Given the description of an element on the screen output the (x, y) to click on. 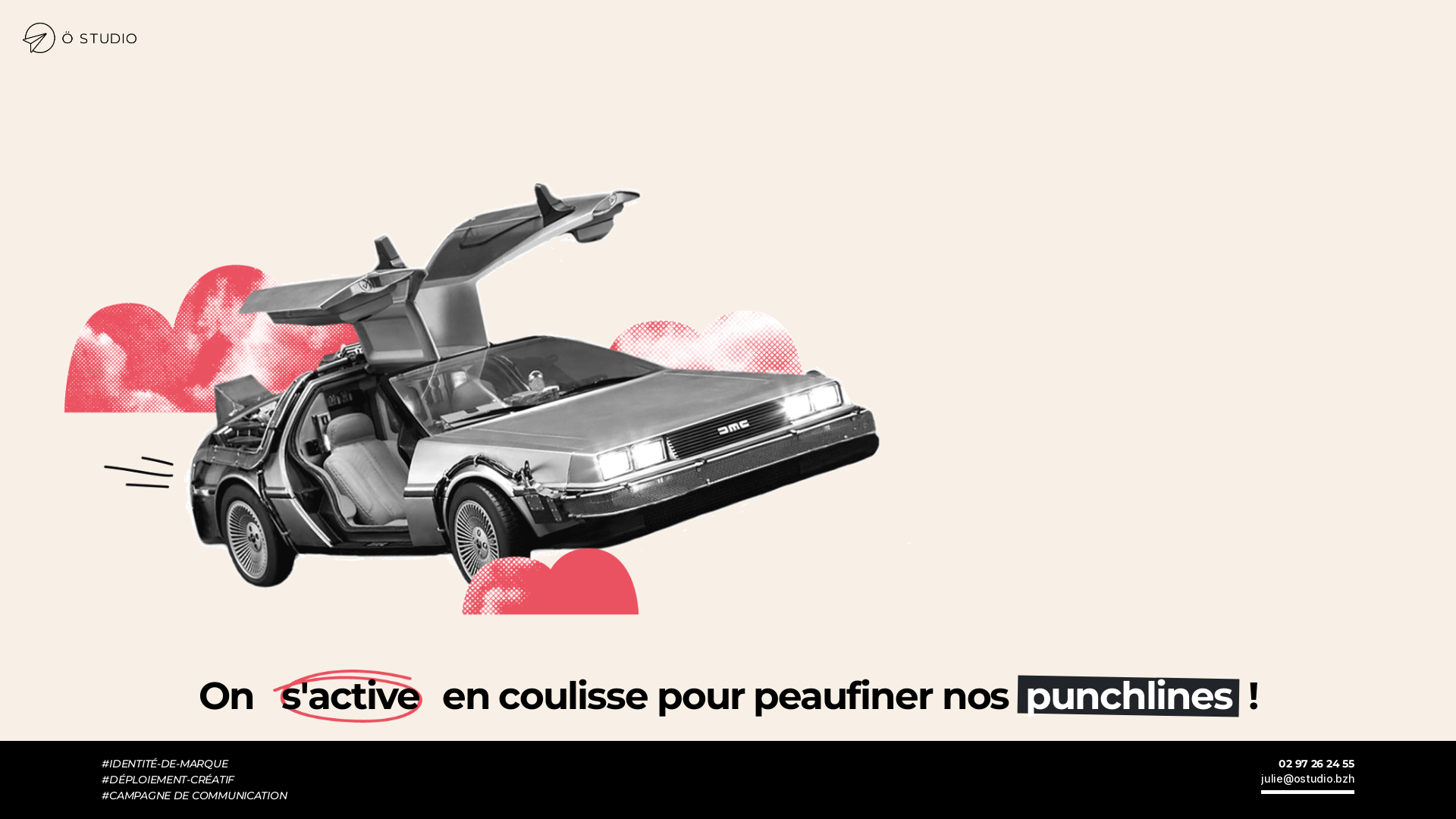
julie@ostudio.bzh Element type: text (1307, 782)
